Given the description of an element on the screen output the (x, y) to click on. 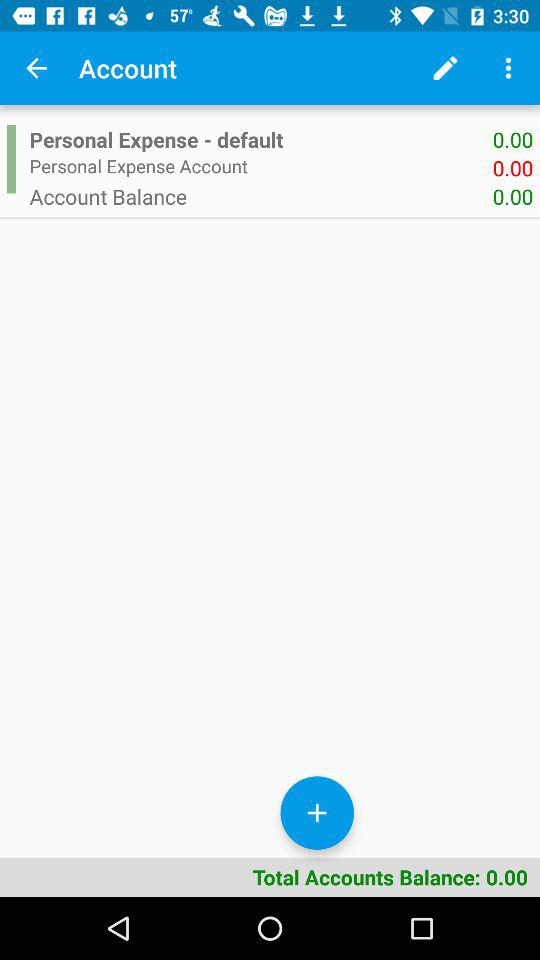
add movement (317, 812)
